Given the description of an element on the screen output the (x, y) to click on. 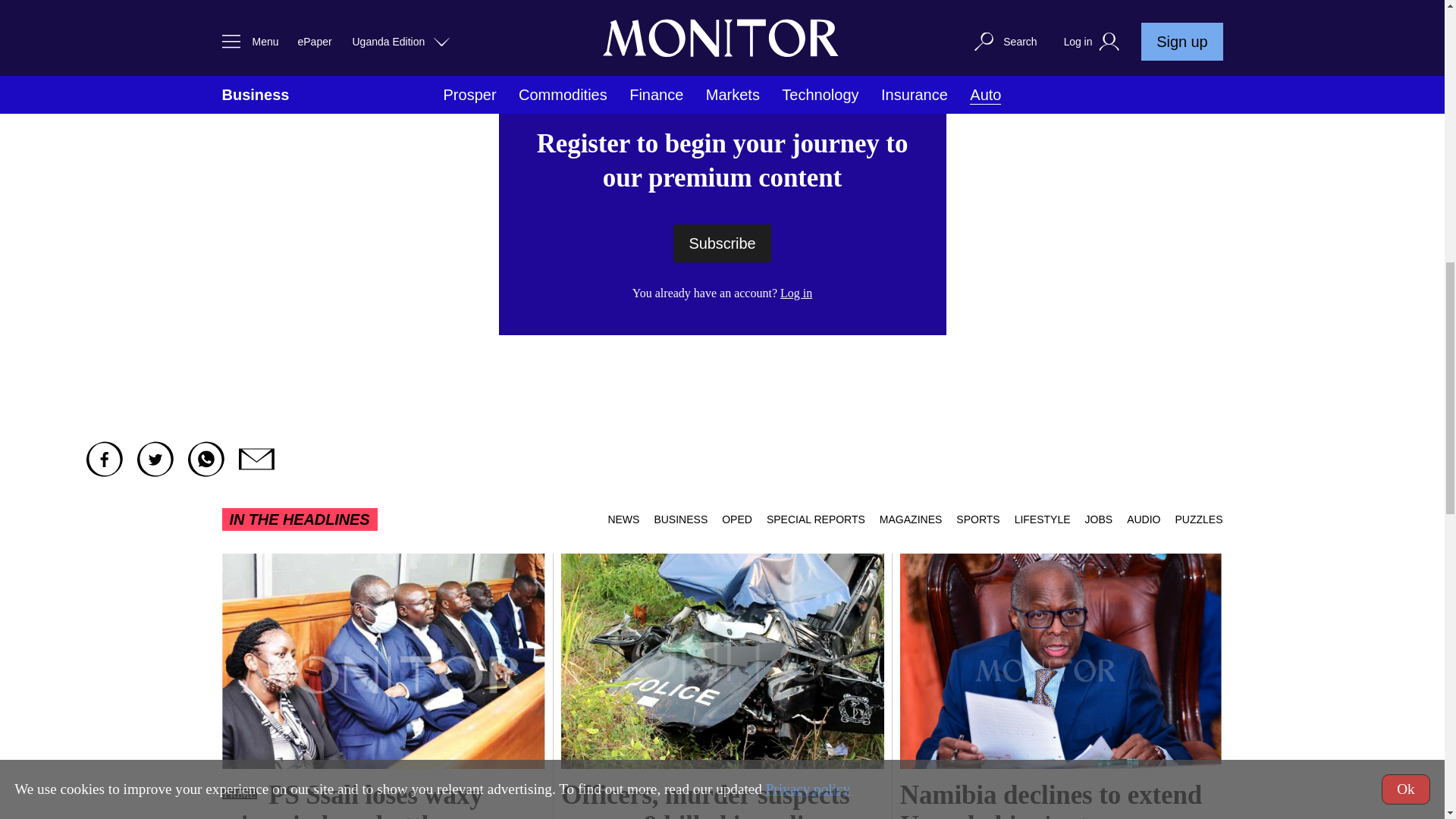
PRIME (238, 793)
